Given the description of an element on the screen output the (x, y) to click on. 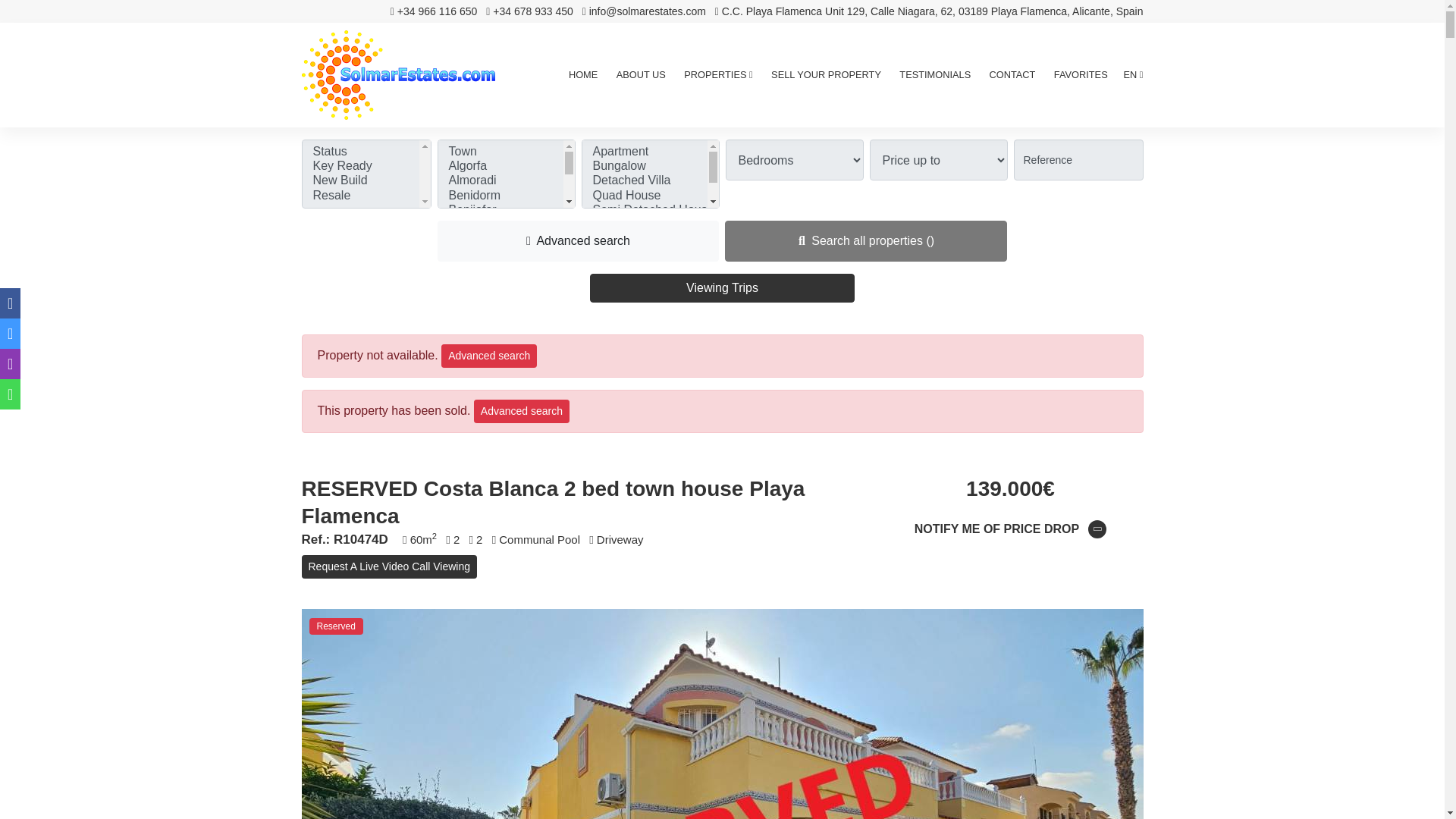
EN (1132, 74)
PROPERTIES (718, 74)
FAVORITES (1081, 74)
ABOUT US (640, 74)
Advanced search (577, 240)
SELL YOUR PROPERTY (825, 74)
CONTACT (1012, 74)
Viewing Trips (722, 287)
HOME (582, 74)
TESTIMONIALS (935, 74)
